Given the description of an element on the screen output the (x, y) to click on. 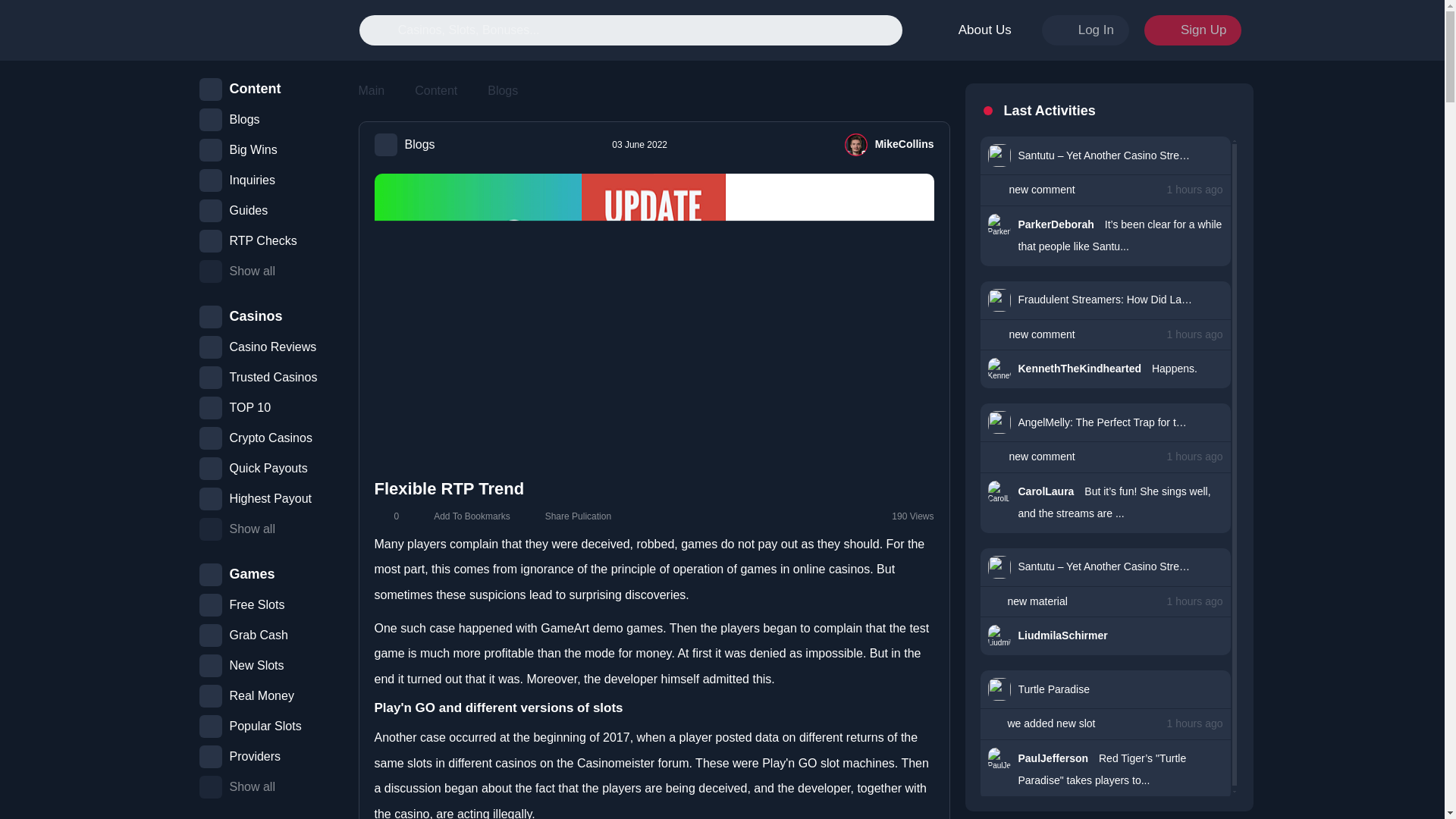
About Us (973, 30)
Sign Up (1192, 30)
Log In (1085, 30)
